Given the description of an element on the screen output the (x, y) to click on. 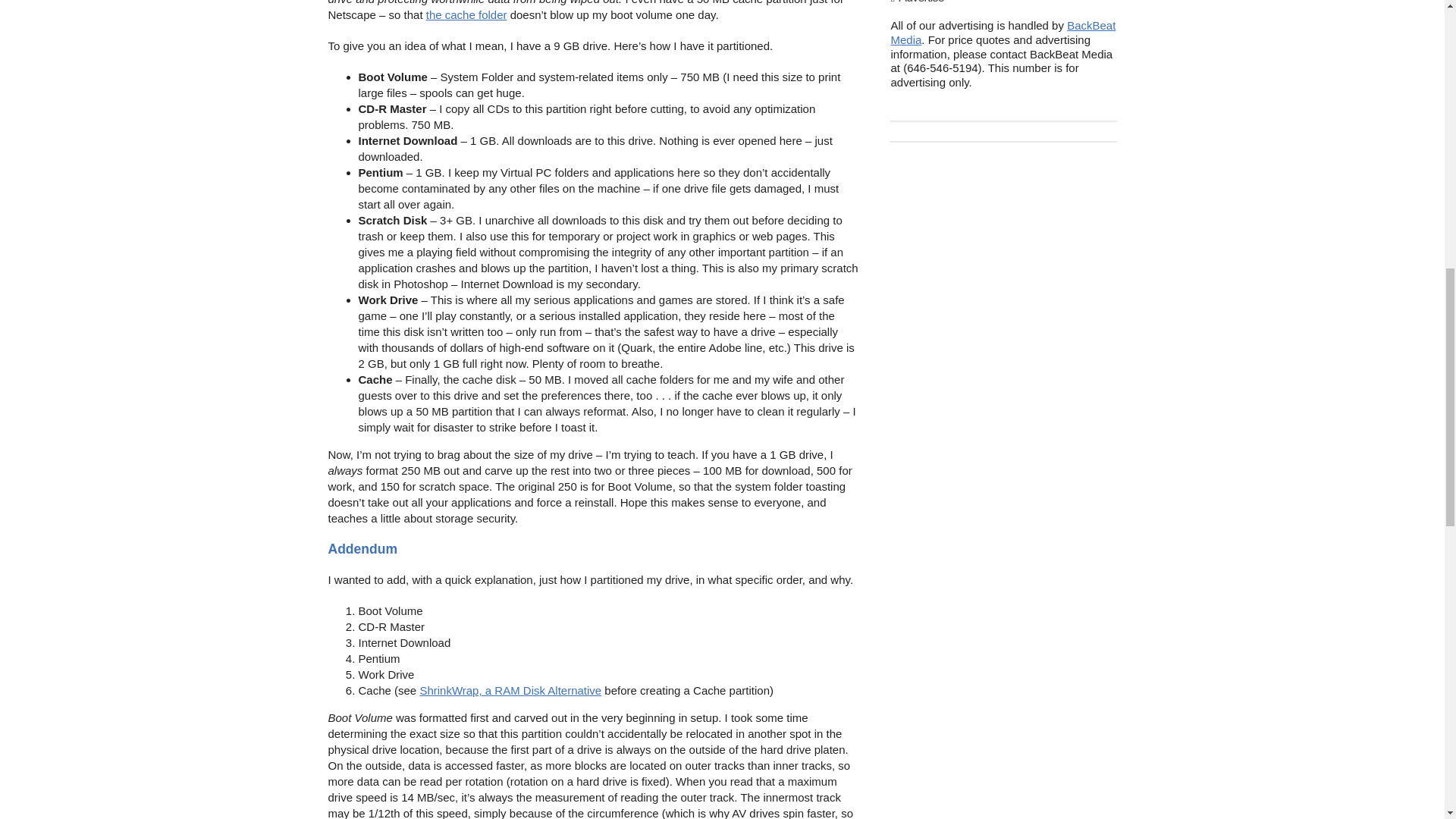
BackBeat Media (1002, 31)
the cache folder (466, 14)
ShrinkWrap, a RAM Disk Alternative (510, 689)
